Given the description of an element on the screen output the (x, y) to click on. 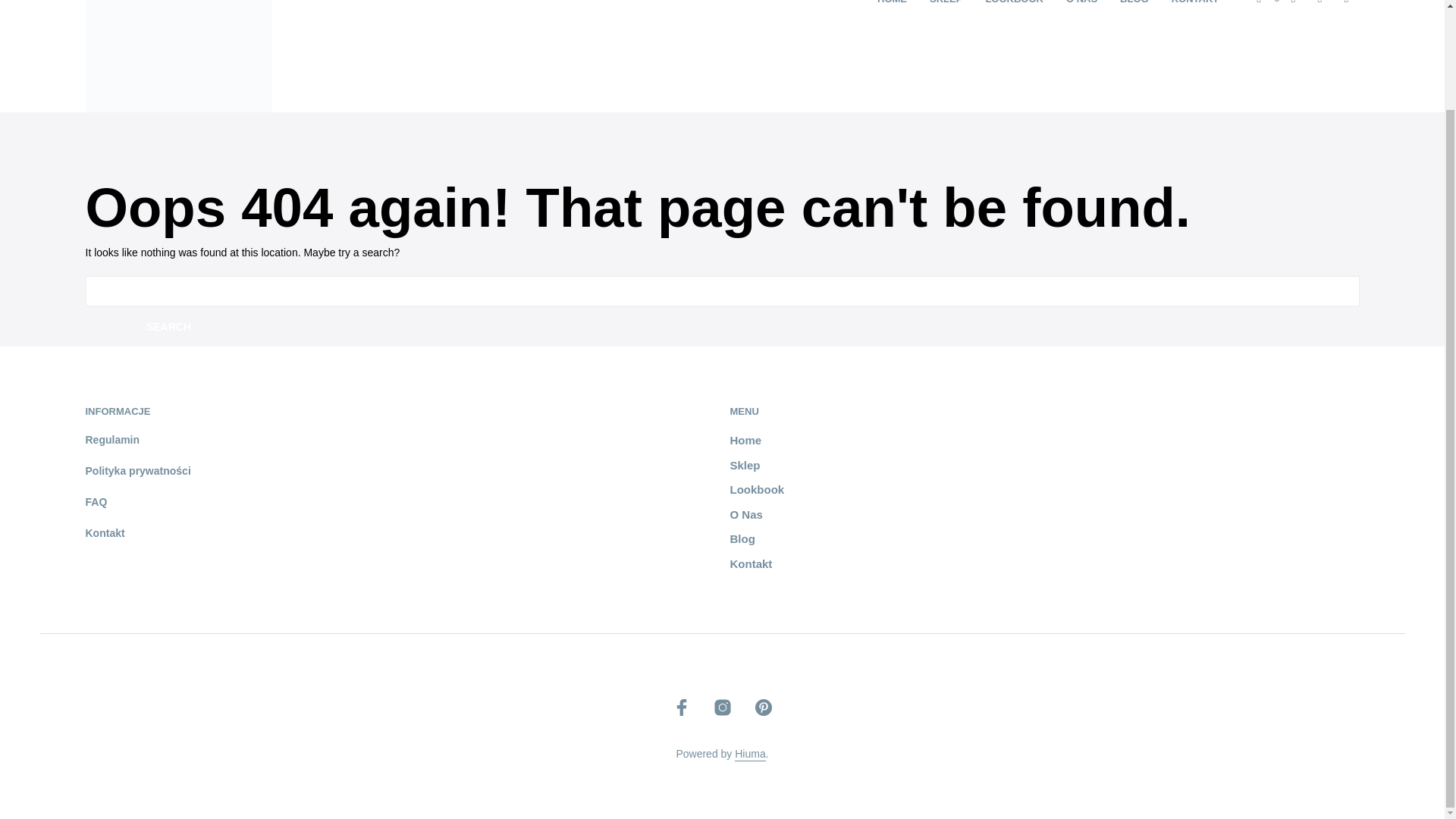
Search (167, 326)
FAQ (95, 501)
Search (167, 326)
BLOG (1134, 3)
Hiuma (750, 754)
Kontakt (750, 563)
Home (745, 440)
LOOKBOOK (1014, 3)
0 (1267, 2)
O NAS (1081, 3)
